Given the description of an element on the screen output the (x, y) to click on. 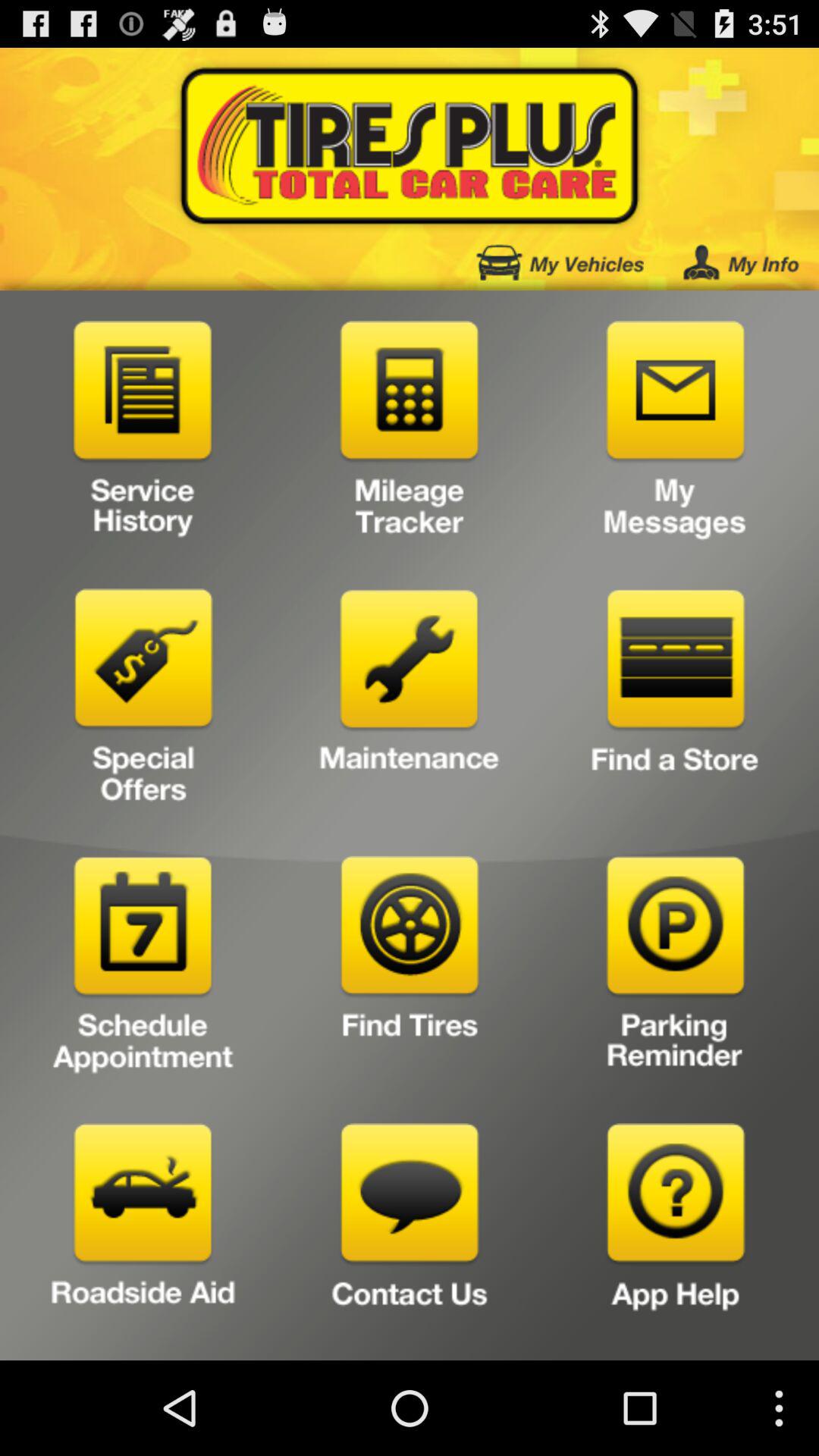
to see a vehicle maintenance (409, 701)
